Given the description of an element on the screen output the (x, y) to click on. 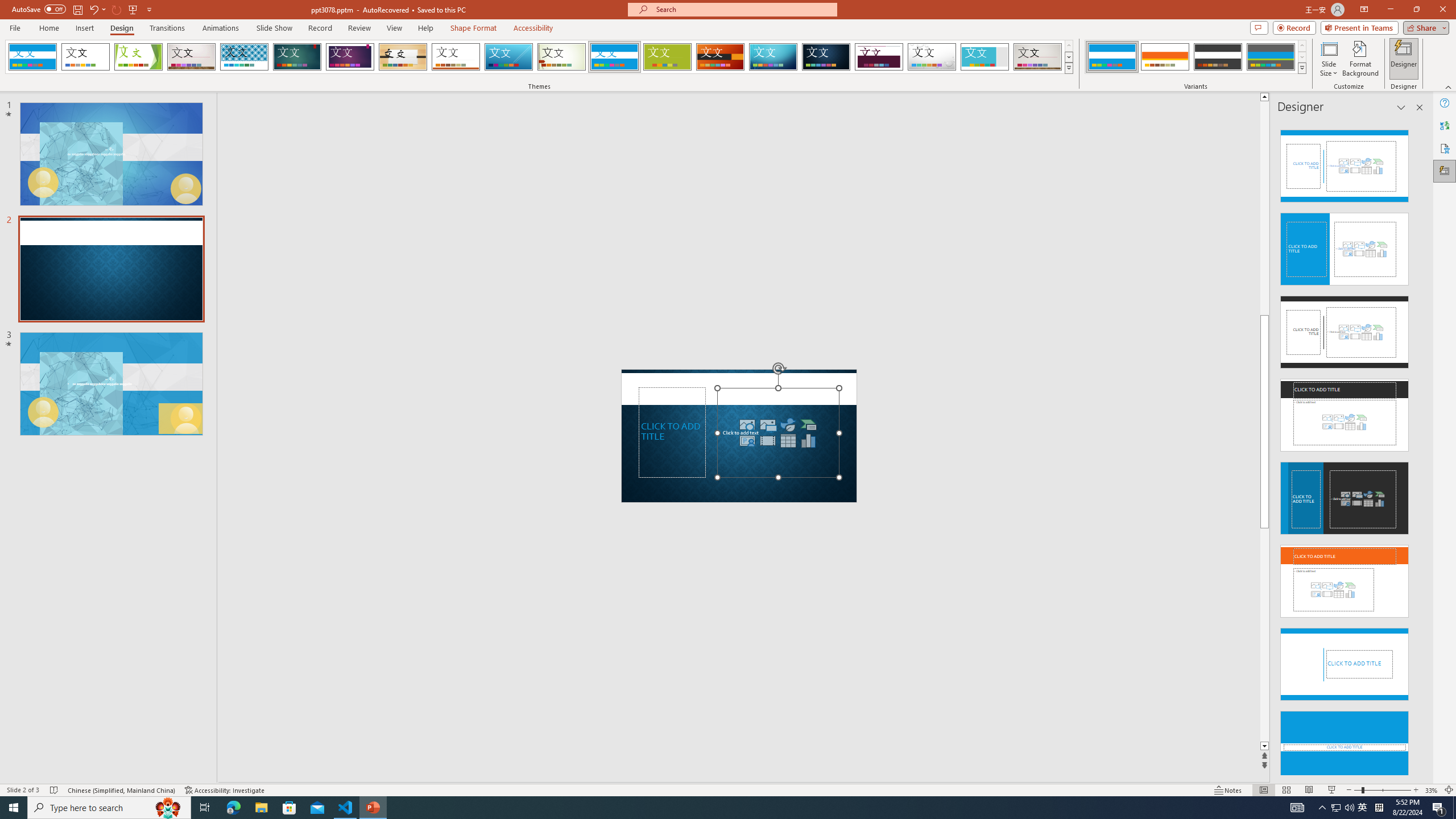
Themes (1068, 67)
Berlin (720, 56)
Gallery (1037, 56)
